Given the description of an element on the screen output the (x, y) to click on. 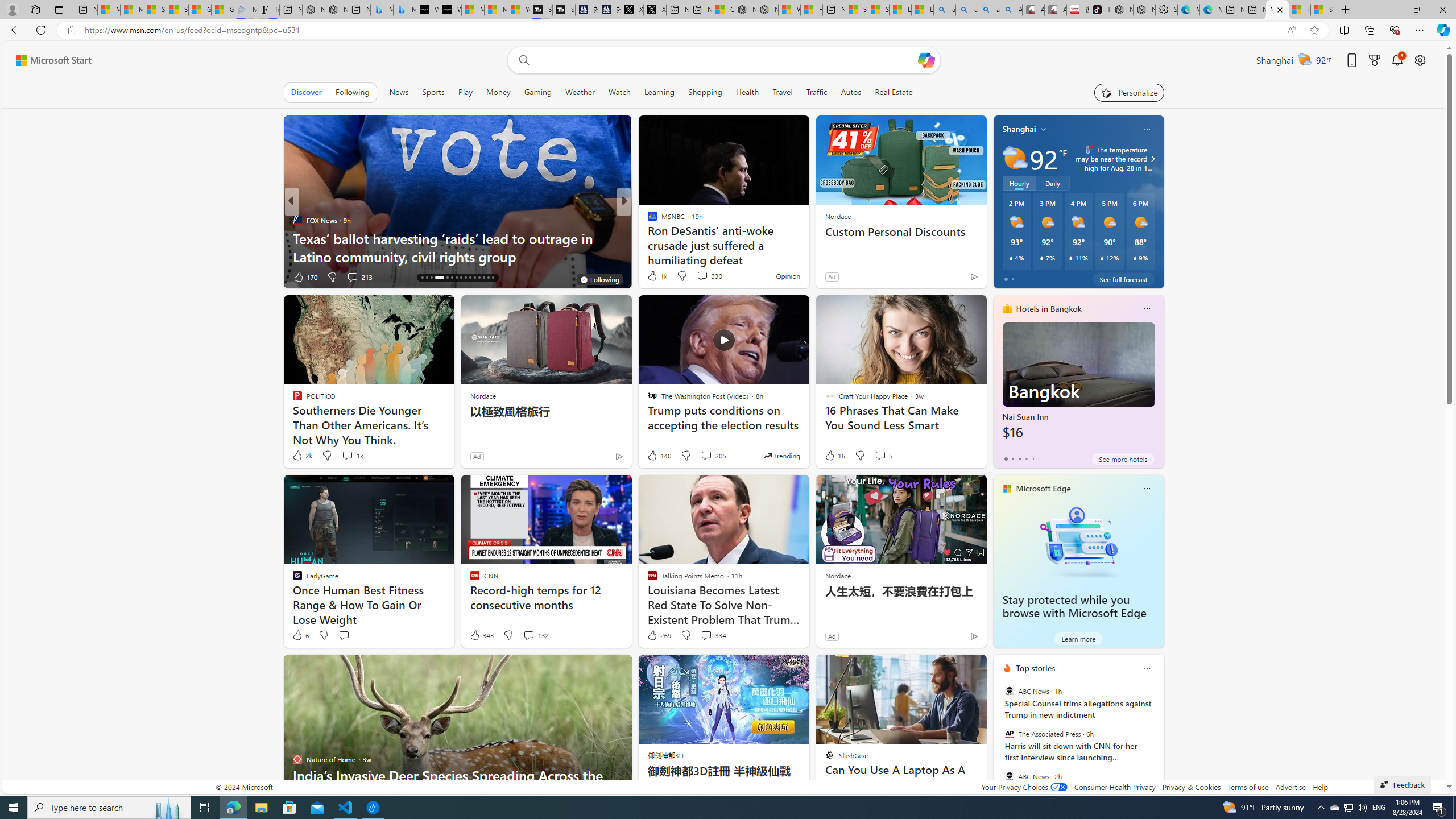
Shopping (705, 92)
Terms of use (1247, 786)
148 Like (654, 276)
Newsweek (647, 219)
hotels-header-icon (1006, 308)
Gaming (537, 92)
Huge shark washes ashore at New York City beach | Watch (810, 9)
Learn more (1078, 638)
amazon - Search Images (988, 9)
